Given the description of an element on the screen output the (x, y) to click on. 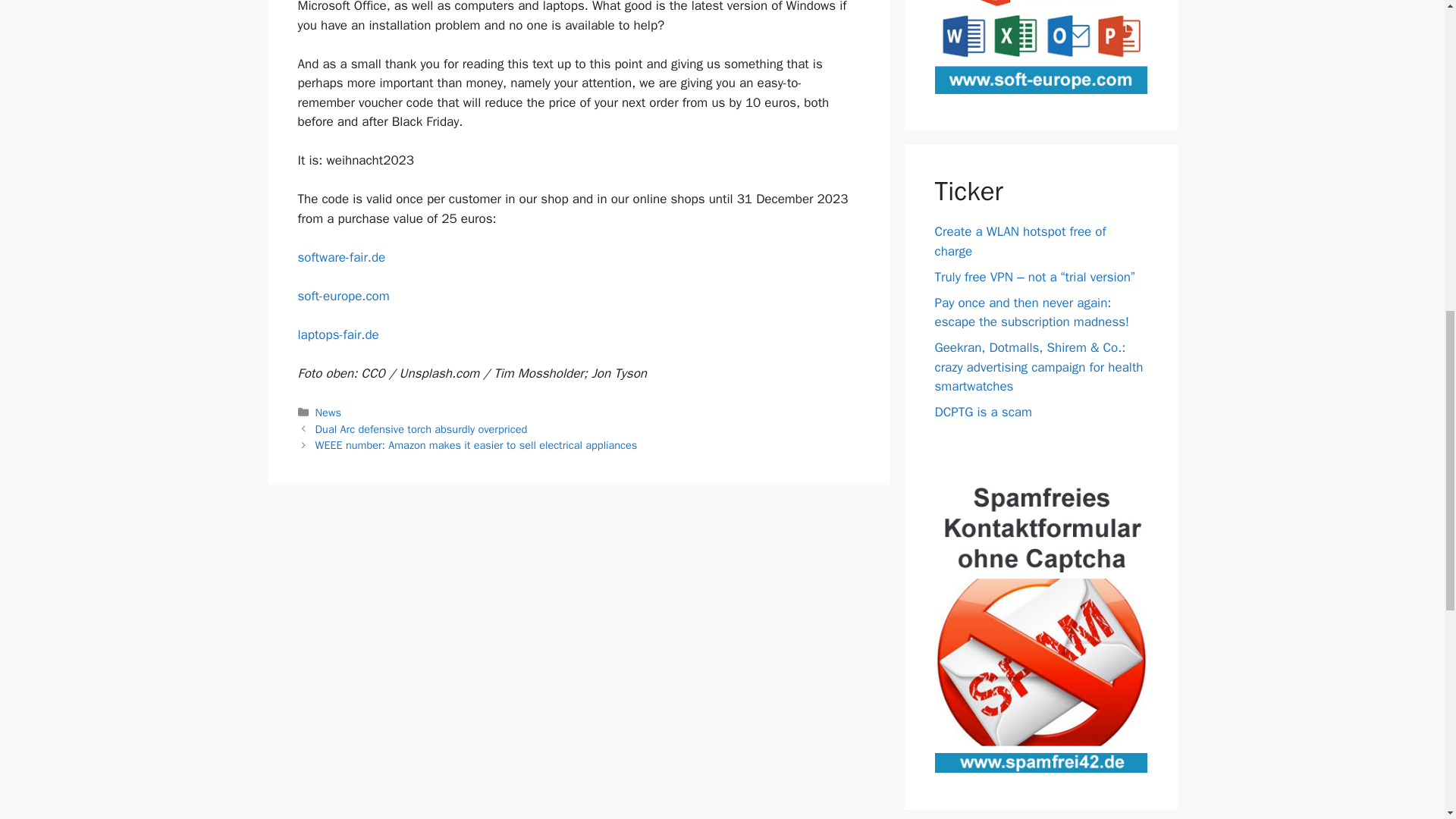
Previous (421, 428)
Next (476, 445)
DCPTG is a scam (982, 412)
laptops-fair.de (337, 334)
Dual Arc defensive torch absurdly overpriced (421, 428)
Create a WLAN hotspot free of charge (1019, 241)
soft-europe.com (342, 295)
News (327, 412)
